Given the description of an element on the screen output the (x, y) to click on. 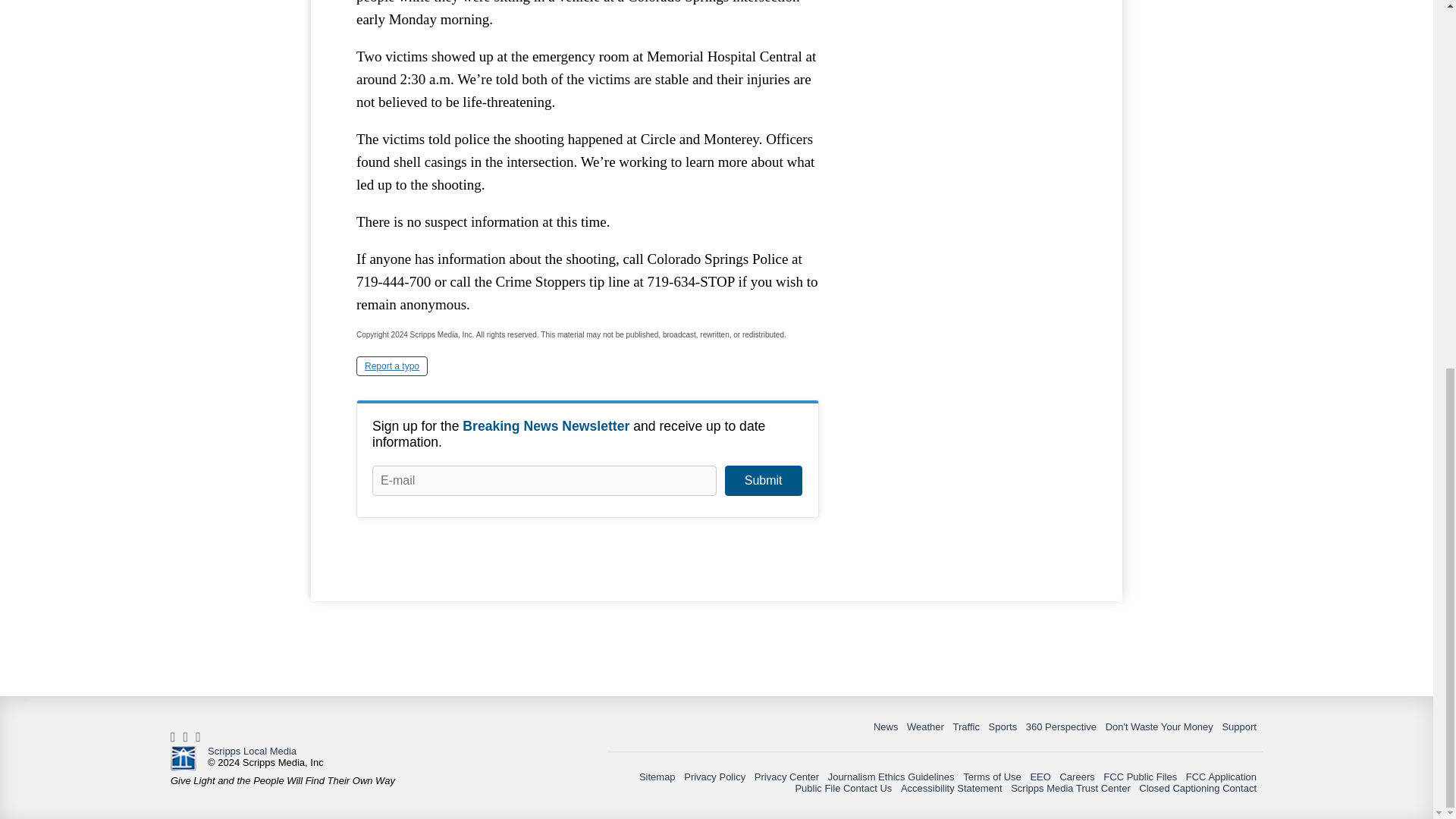
Submit (763, 481)
